Given the description of an element on the screen output the (x, y) to click on. 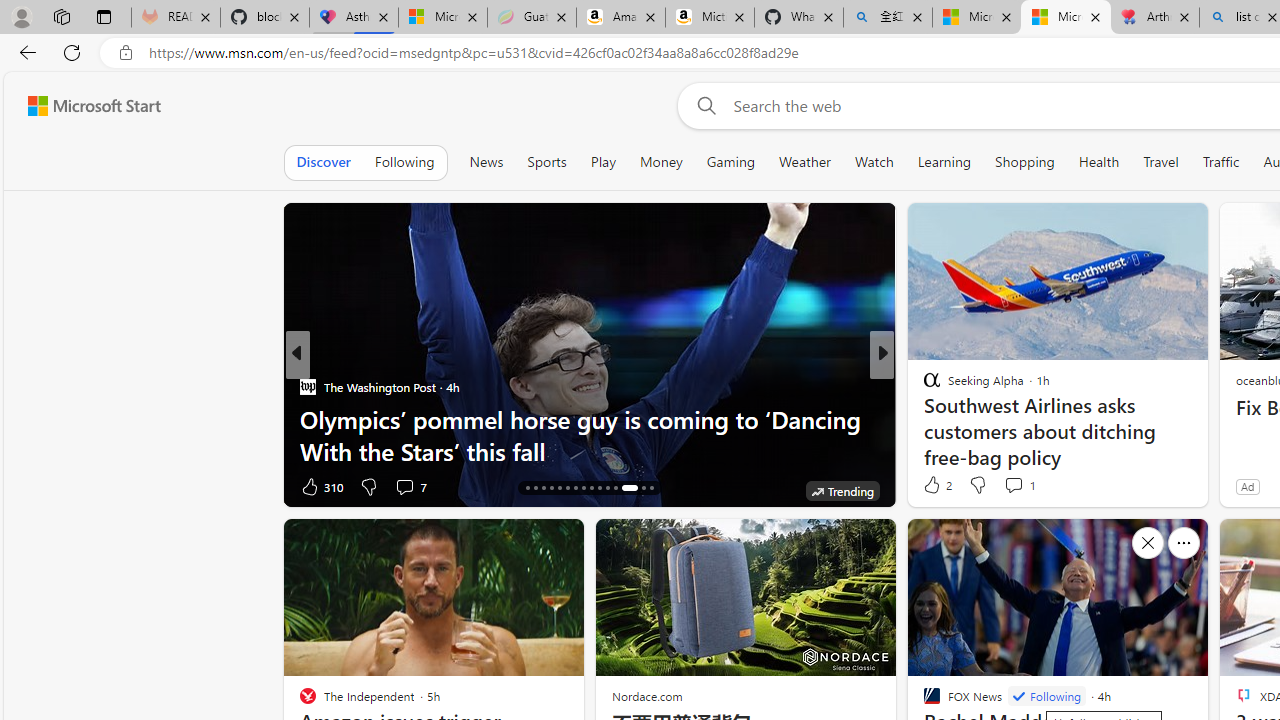
Travel (1160, 161)
AutomationID: tab-21 (567, 487)
AutomationID: tab-17 (535, 487)
AutomationID: tab-16 (527, 487)
Following (404, 162)
Watch (874, 161)
AutomationID: tab-22 (574, 487)
AutomationID: tab-29 (637, 487)
Following (1046, 696)
Play (602, 161)
Business Insider (307, 386)
